Given the description of an element on the screen output the (x, y) to click on. 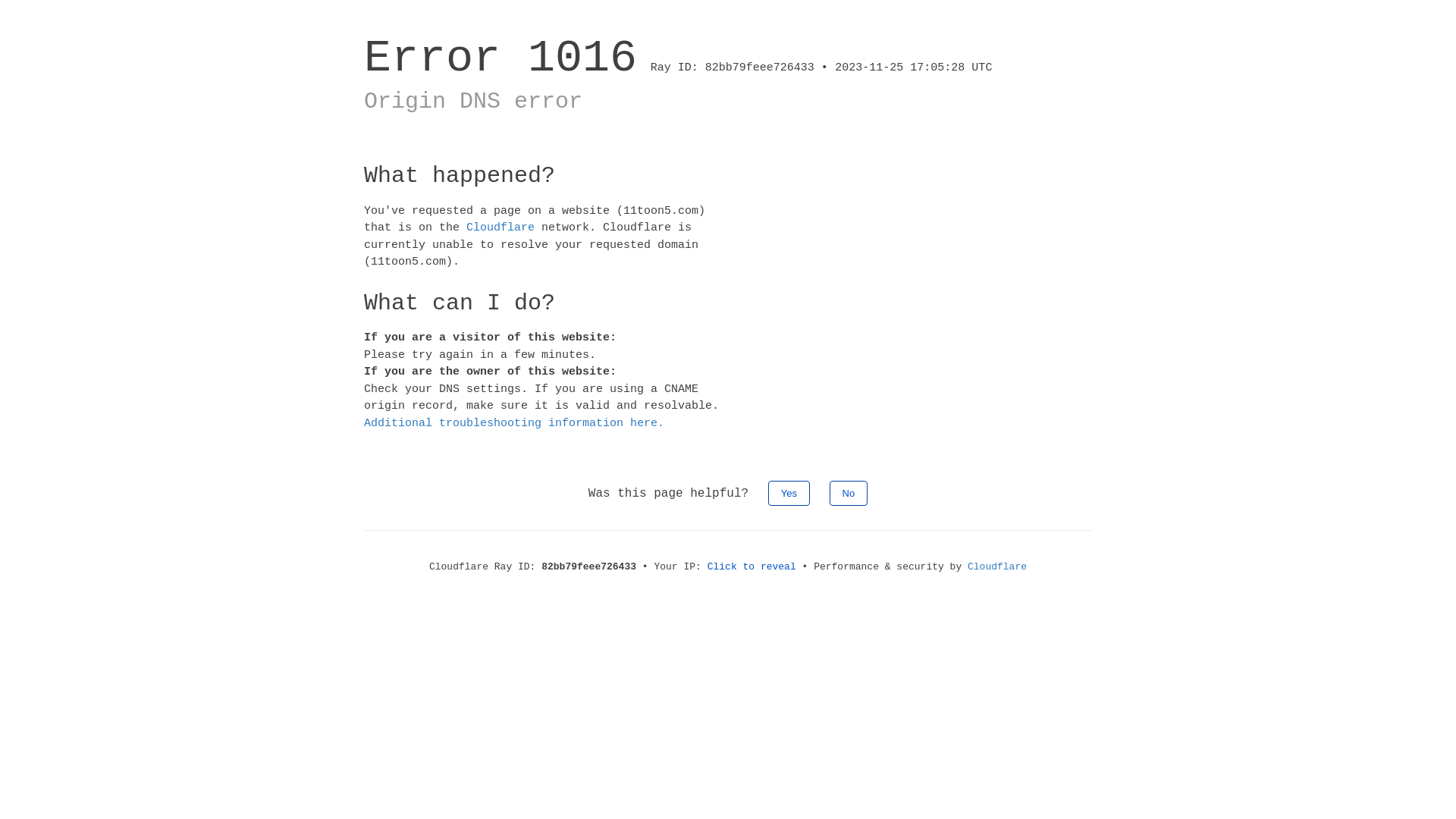
Click to reveal Element type: text (751, 566)
Yes Element type: text (788, 492)
No Element type: text (848, 492)
Cloudflare Element type: text (500, 227)
Additional troubleshooting information here. Element type: text (514, 423)
Cloudflare Element type: text (996, 566)
